Given the description of an element on the screen output the (x, y) to click on. 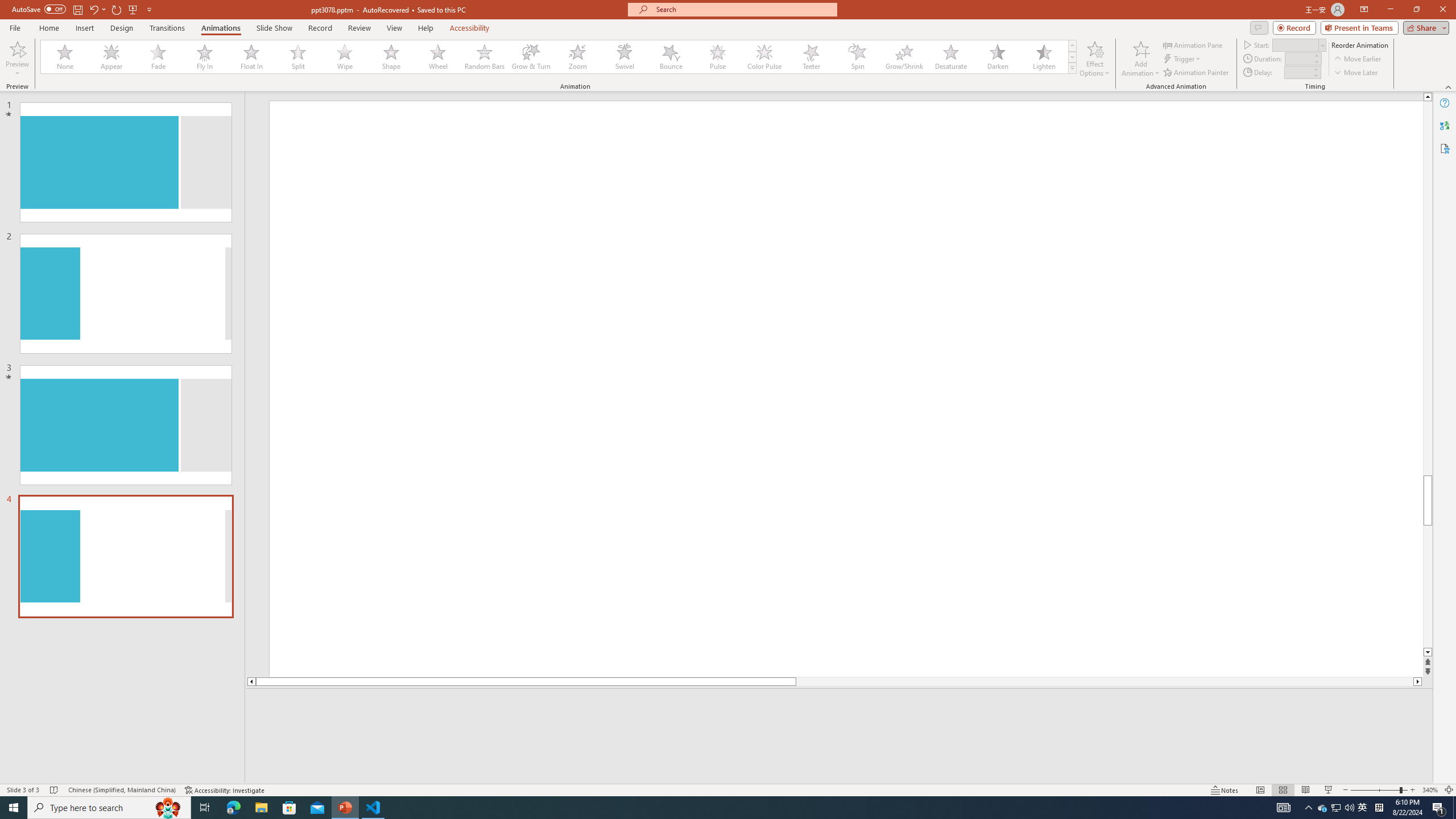
Trigger (1182, 58)
Lighten (1043, 56)
Random Bars (484, 56)
Color Pulse (764, 56)
Effect Options (1094, 58)
